Given the description of an element on the screen output the (x, y) to click on. 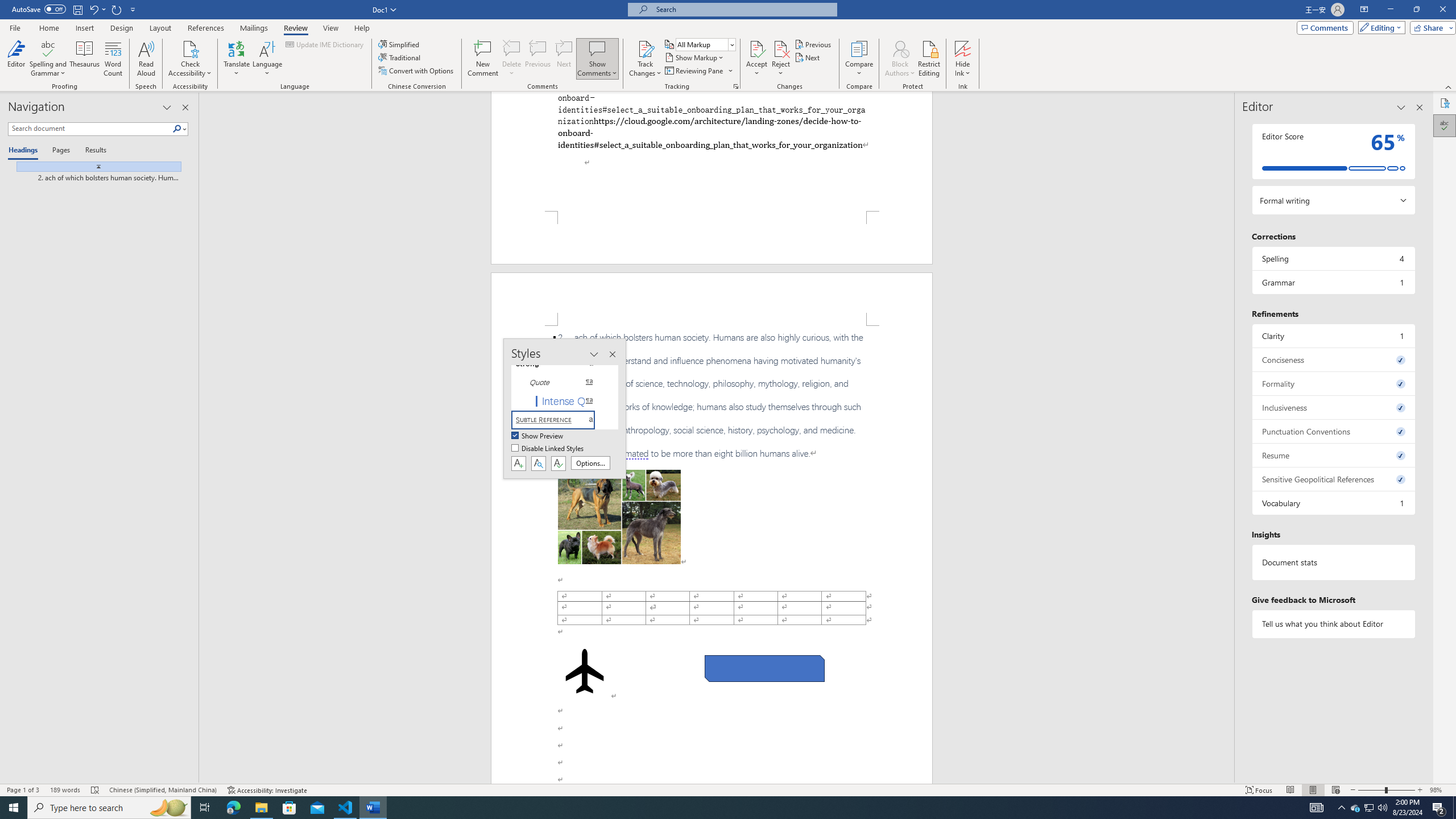
Headings (25, 150)
Editing (1379, 27)
Mailings (253, 28)
Options... (590, 463)
Close (1442, 9)
Subtle Reference (559, 419)
Editor Score 65% (1333, 151)
Customize Quick Access Toolbar (133, 9)
Save (77, 9)
Spelling and Grammar (48, 58)
Reviewing Pane (698, 69)
Word Count (113, 58)
Ribbon Display Options (1364, 9)
Hide Ink (962, 48)
